Given the description of an element on the screen output the (x, y) to click on. 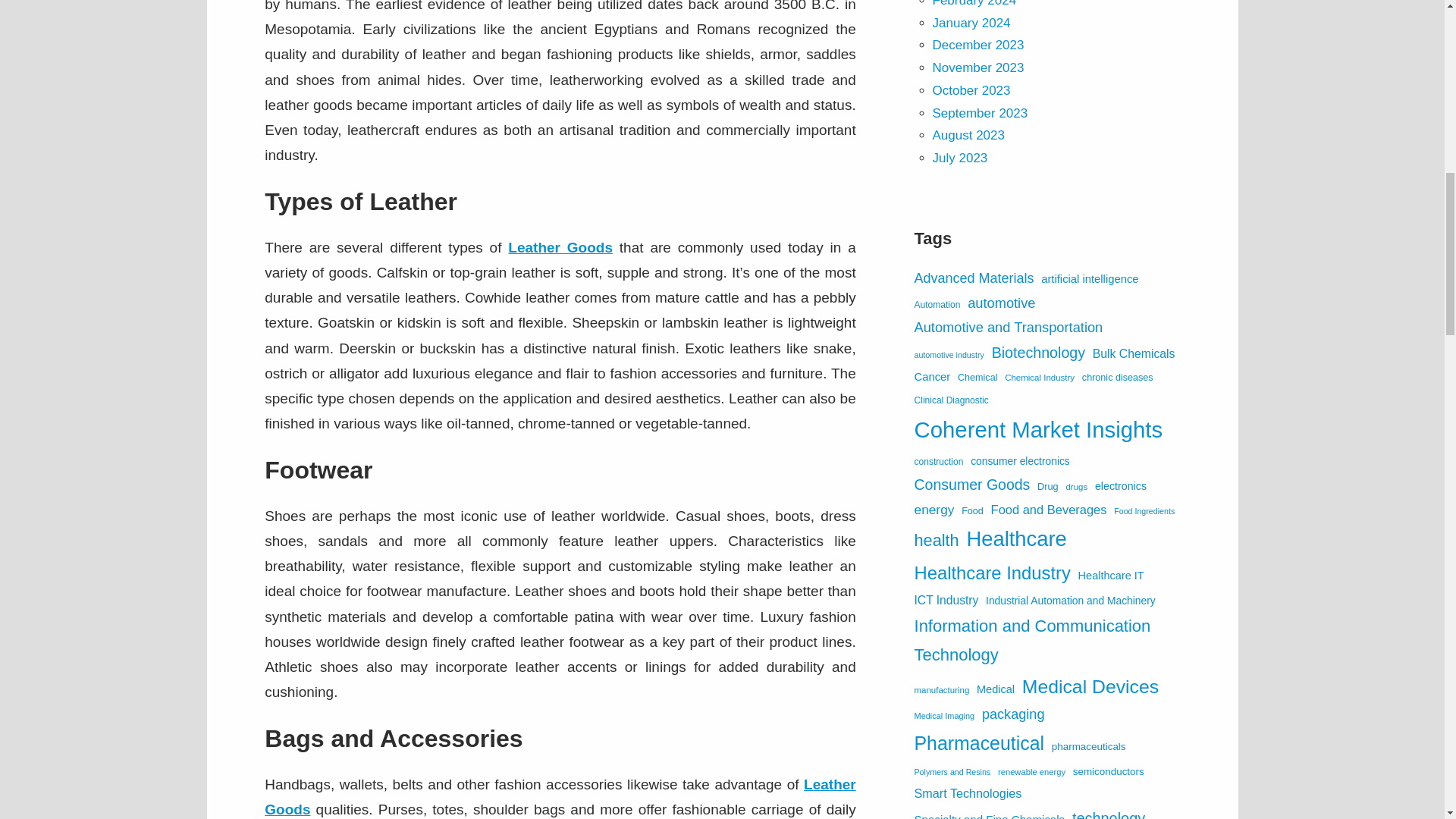
Leather Goods (560, 247)
Leather Goods (560, 796)
